Given the description of an element on the screen output the (x, y) to click on. 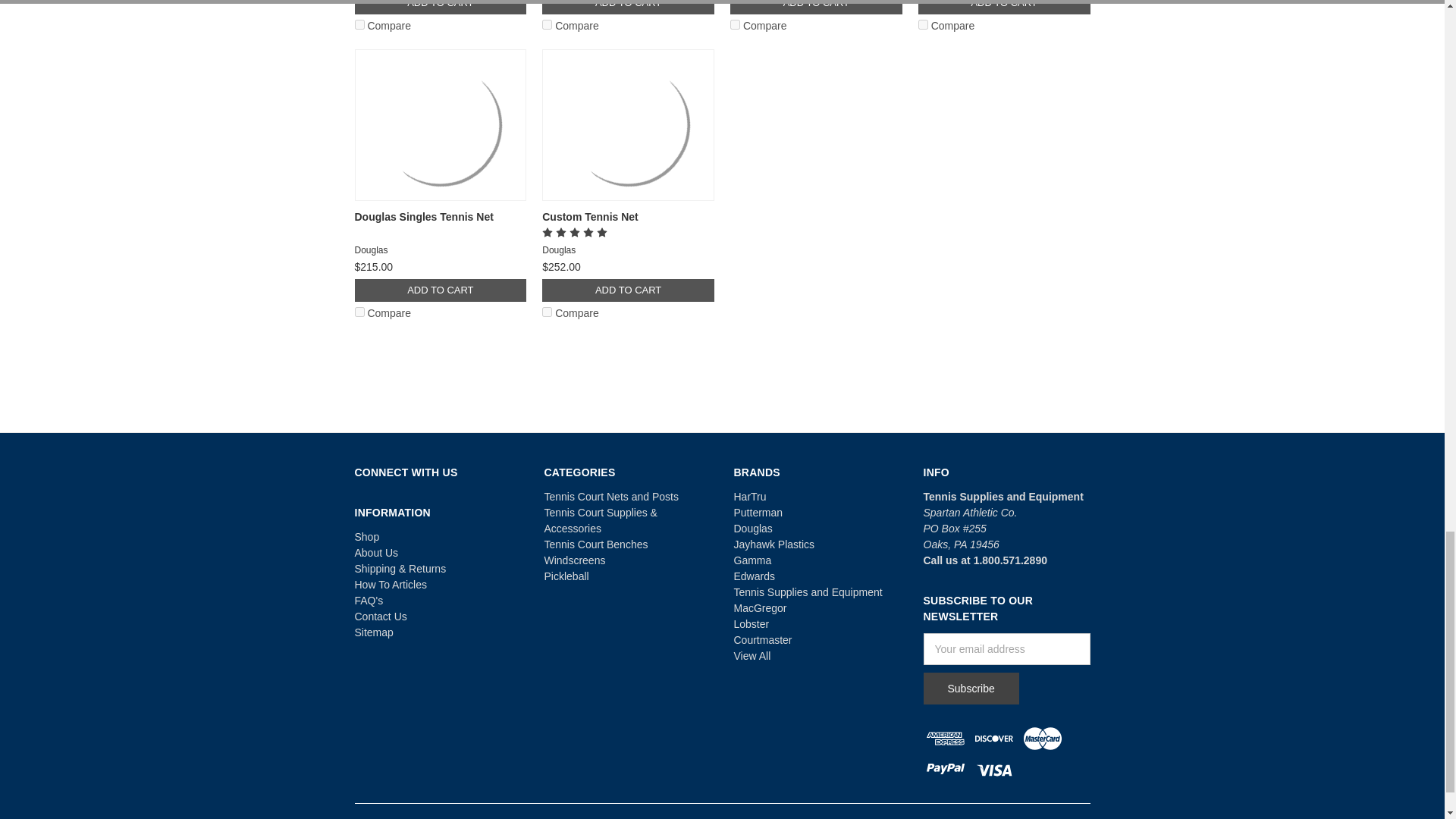
512 (360, 311)
462 (734, 24)
463 (923, 24)
Subscribe (971, 688)
Singles tennis net (440, 124)
Douglas TN-30 tennis net (628, 124)
461 (546, 24)
460 (360, 24)
390 (546, 311)
